Given the description of an element on the screen output the (x, y) to click on. 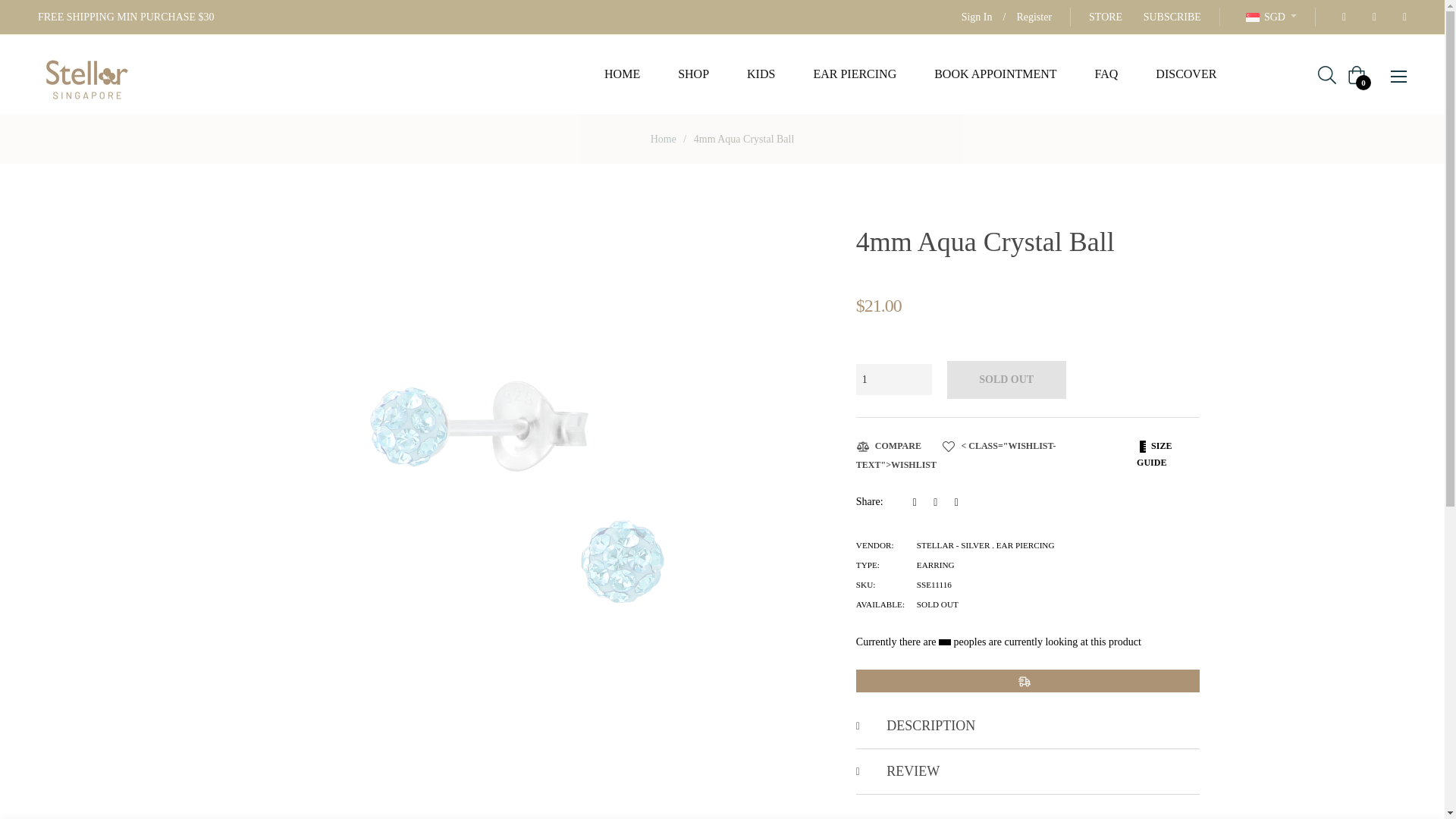
1 (893, 378)
Currencies (1271, 16)
Tweet on Twitter (940, 501)
Stellar  on Instagram (1369, 16)
HOME (622, 74)
Home (662, 139)
Register (1033, 17)
Sign In (976, 17)
Wishlist (956, 455)
Pin on Pinterest (960, 501)
